Given the description of an element on the screen output the (x, y) to click on. 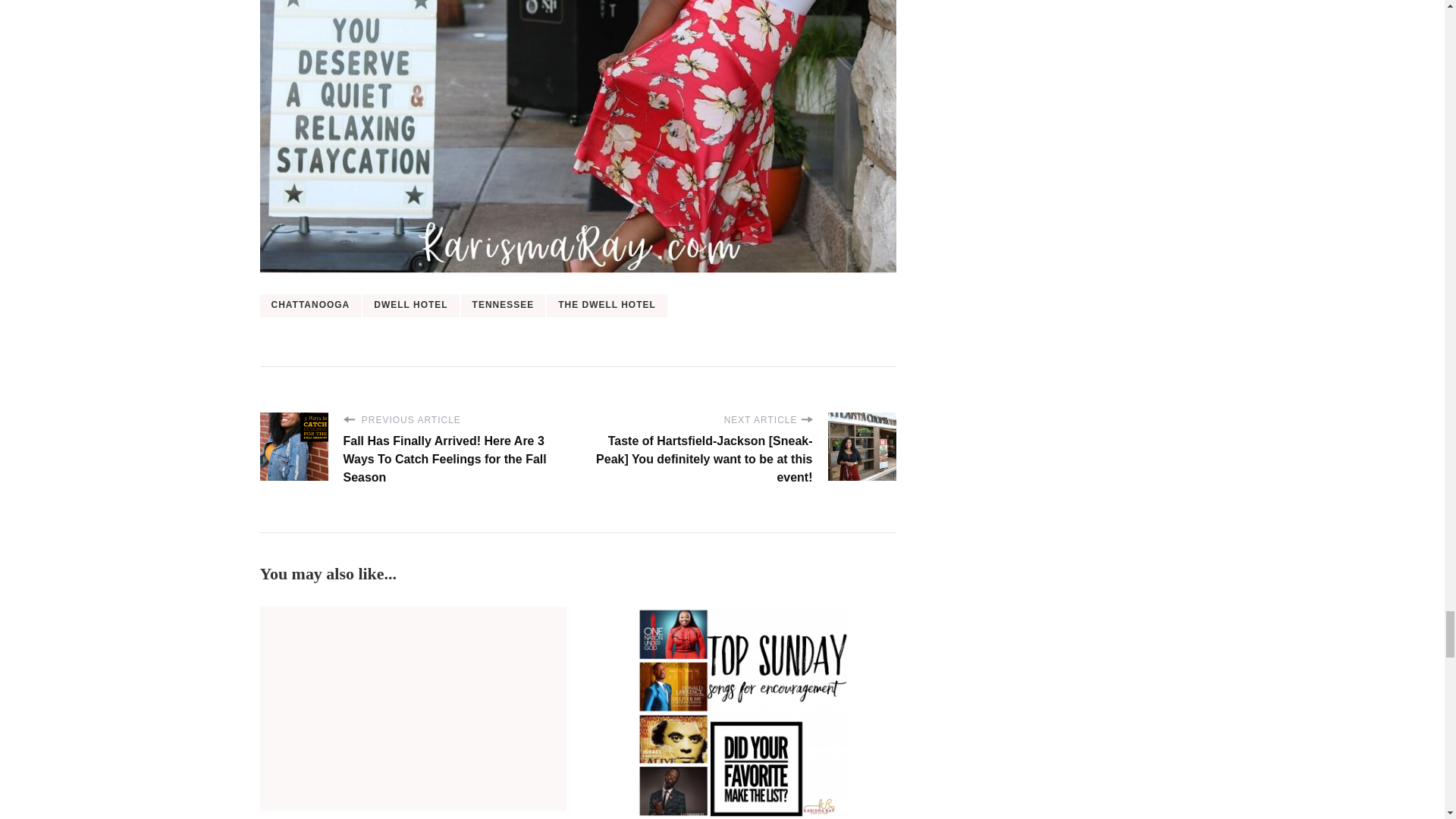
THE DWELL HOTEL (606, 305)
TENNESSEE (503, 305)
CHATTANOOGA (310, 305)
DWELL HOTEL (410, 305)
